Given the description of an element on the screen output the (x, y) to click on. 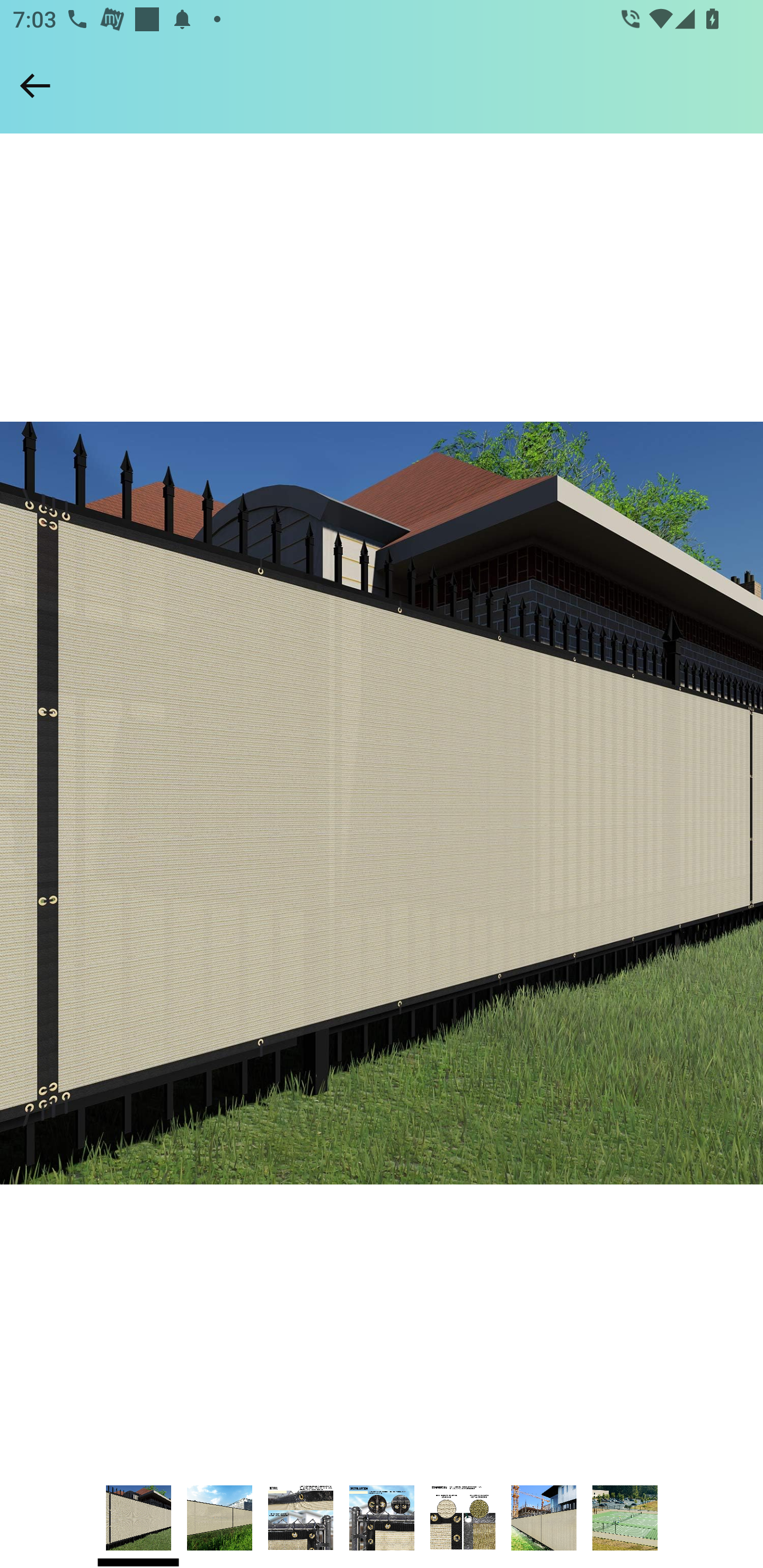
Back (35, 85)
Thumbnail 1 (138, 1517)
Thumbnail 2 (219, 1517)
Thumbnail 3 (300, 1517)
Thumbnail 4 (381, 1517)
Thumbnail 5 (462, 1517)
Thumbnail 6 (543, 1517)
Thumbnail 7 (624, 1517)
